Given the description of an element on the screen output the (x, y) to click on. 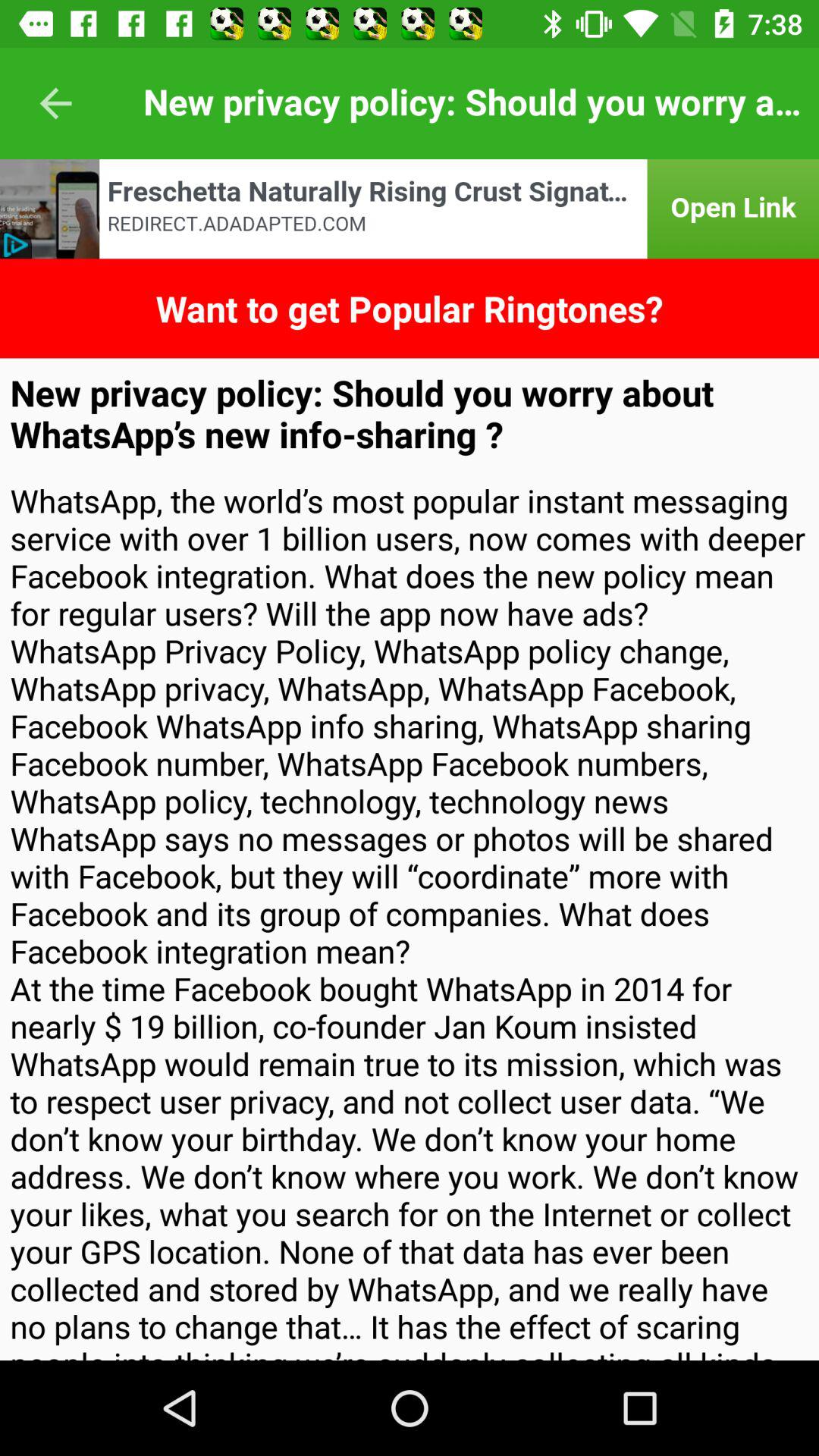
turn on want to get item (409, 308)
